Given the description of an element on the screen output the (x, y) to click on. 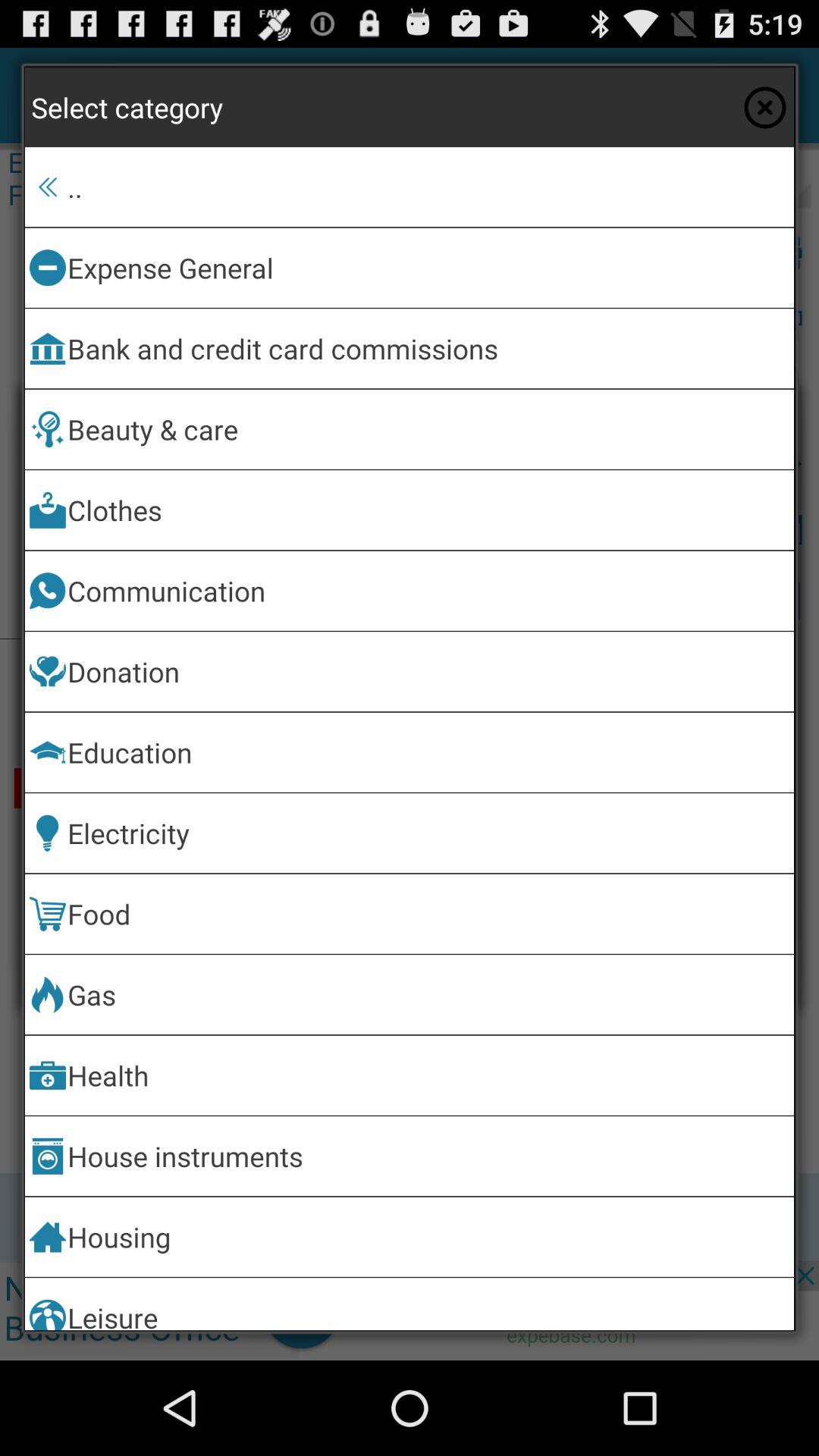
press the app above the .. icon (764, 107)
